Given the description of an element on the screen output the (x, y) to click on. 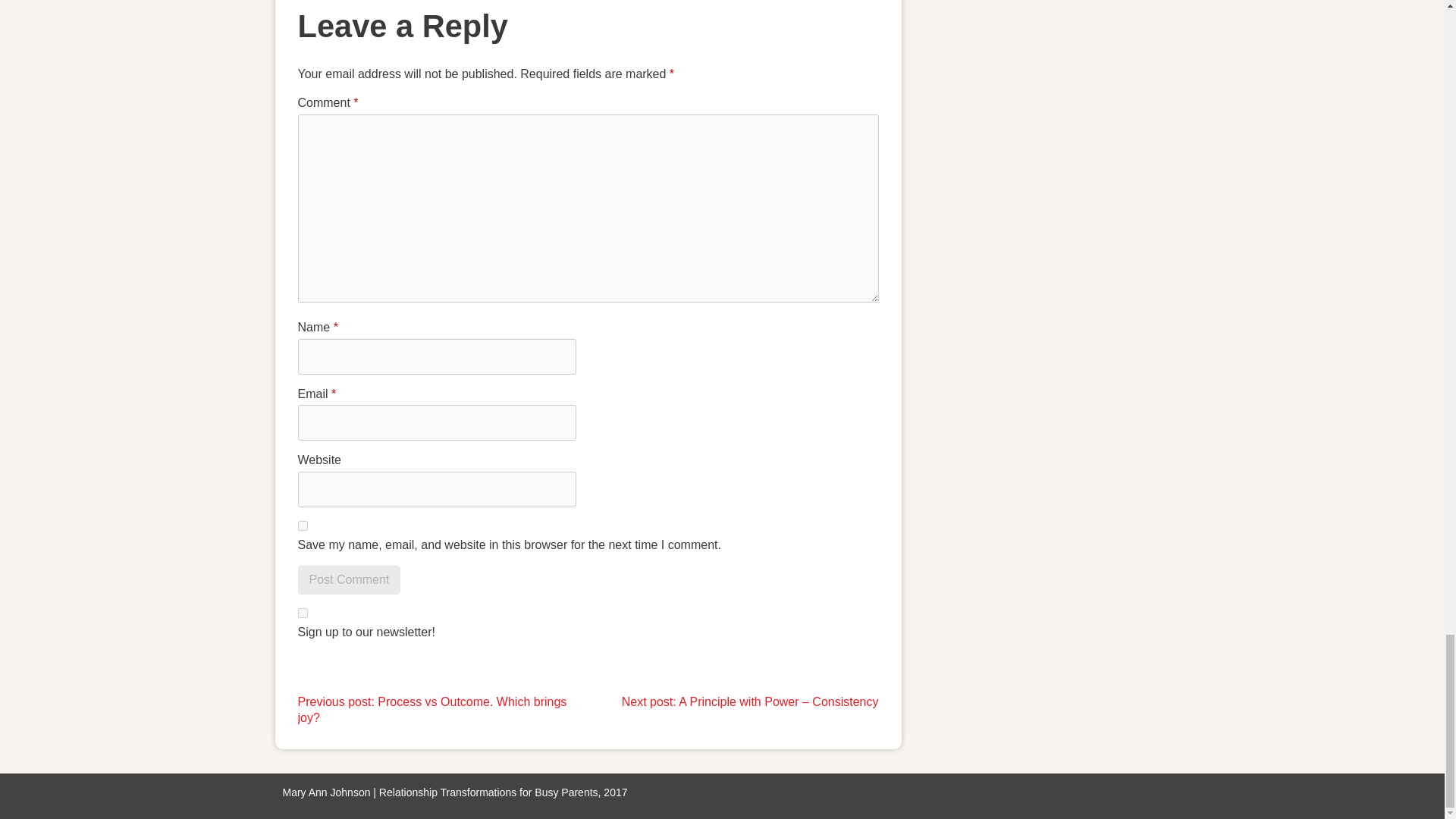
Post Comment (348, 579)
1 (302, 613)
yes (302, 525)
